Given the description of an element on the screen output the (x, y) to click on. 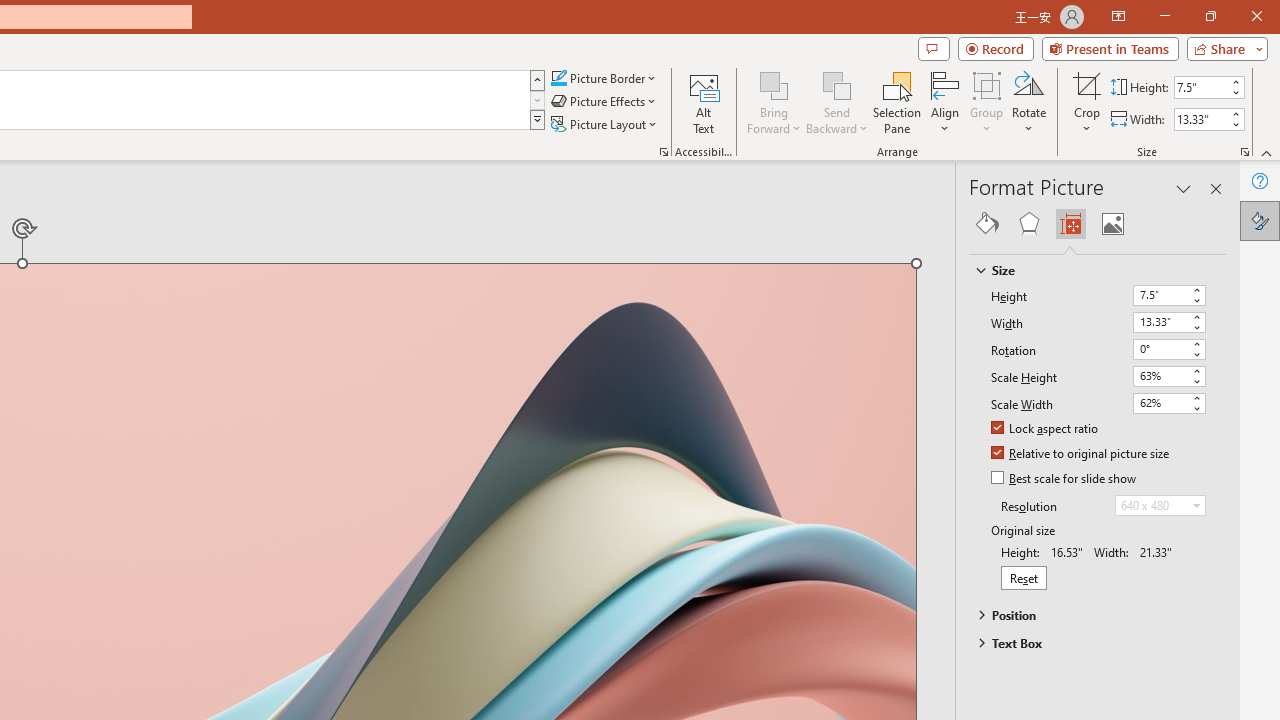
Send Backward (836, 102)
Position (1088, 615)
Bring Forward (773, 84)
Height (1160, 294)
Width (1160, 322)
Height (1168, 295)
Picture (1112, 223)
Size (1088, 269)
Picture Layout (605, 124)
